Given the description of an element on the screen output the (x, y) to click on. 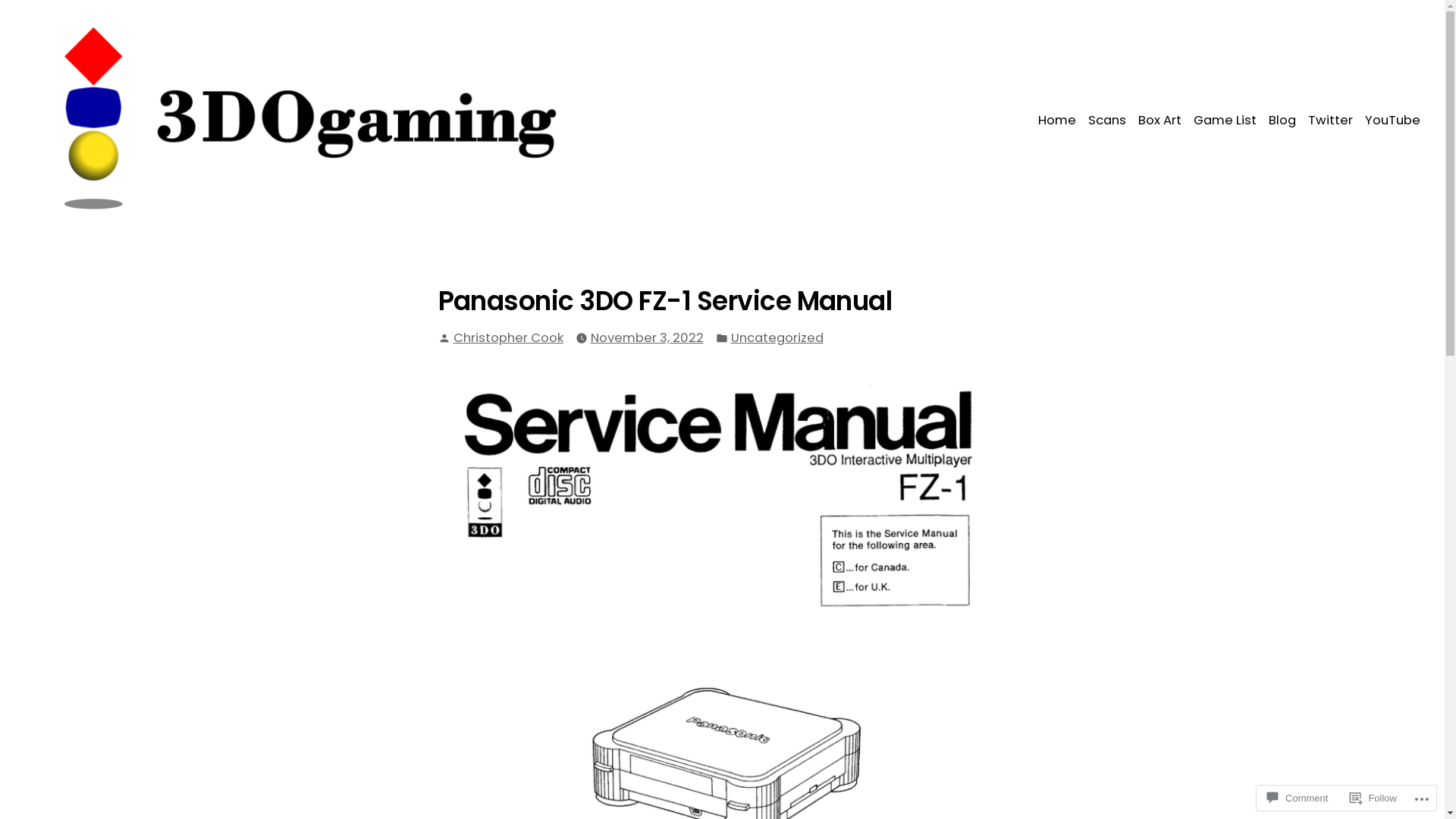
Box Art Element type: text (1159, 120)
Comment Element type: text (1297, 797)
YouTube Element type: text (1389, 120)
Twitter Element type: text (1330, 120)
Follow Element type: text (1372, 797)
Game List Element type: text (1224, 120)
Blog Element type: text (1282, 120)
Home Element type: text (1060, 120)
November 3, 2022 Element type: text (645, 338)
Christopher Cook Element type: text (508, 337)
Uncategorized Element type: text (777, 338)
Scans Element type: text (1107, 120)
